Given the description of an element on the screen output the (x, y) to click on. 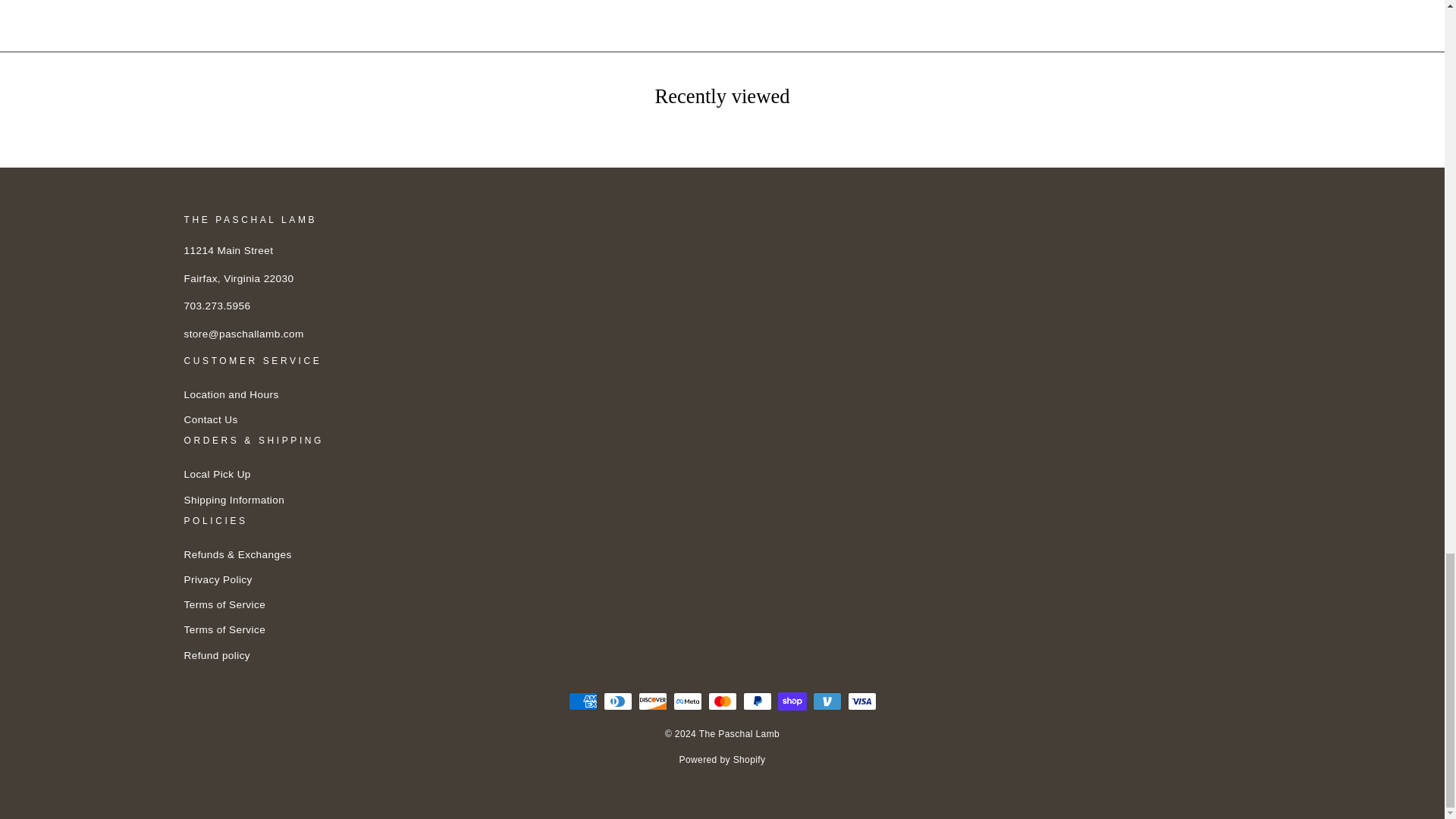
PayPal (756, 701)
Mastercard (721, 701)
Contact Us (210, 419)
Location and Hours (230, 395)
Diners Club (617, 701)
Shop Pay (791, 701)
Discover (652, 701)
Venmo (826, 701)
Visa (861, 701)
American Express (582, 701)
Meta Pay (686, 701)
